Given the description of an element on the screen output the (x, y) to click on. 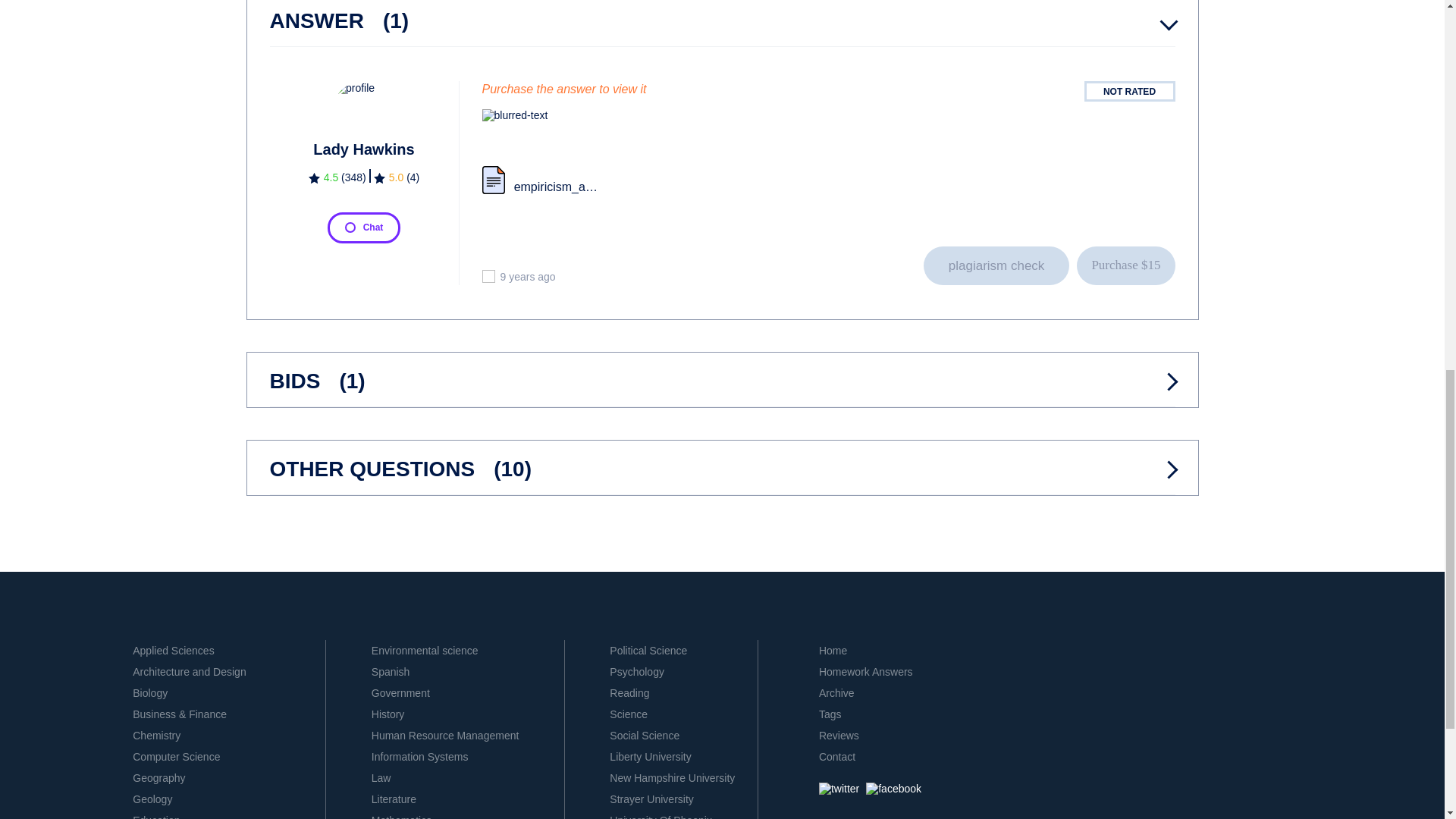
plagiarism check (996, 264)
All ratings (337, 178)
Applied Sciences (173, 650)
Literature ratings (397, 178)
Architecture and Design (189, 671)
Chat (363, 227)
